Given the description of an element on the screen output the (x, y) to click on. 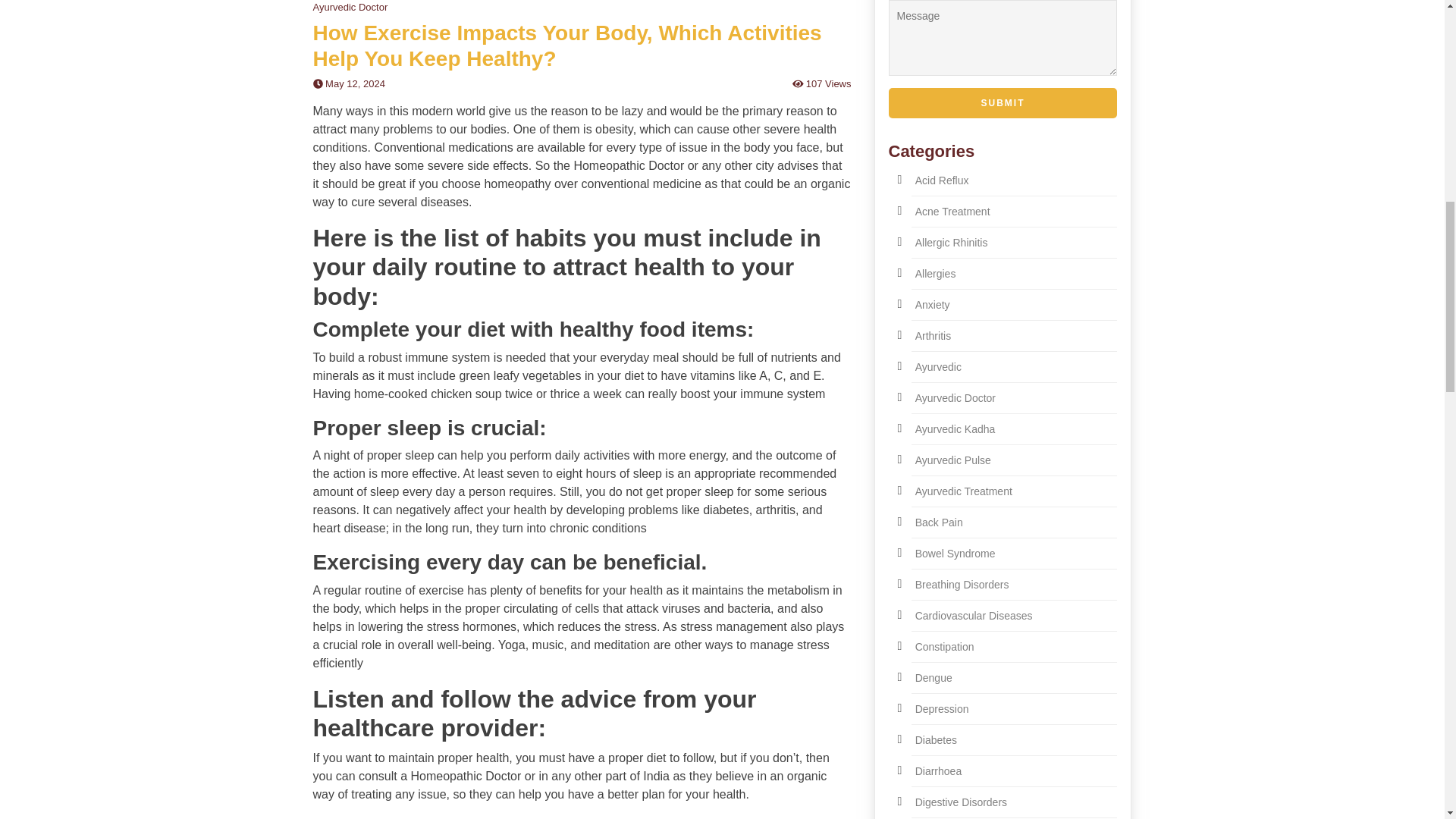
Submit (1003, 102)
